Given the description of an element on the screen output the (x, y) to click on. 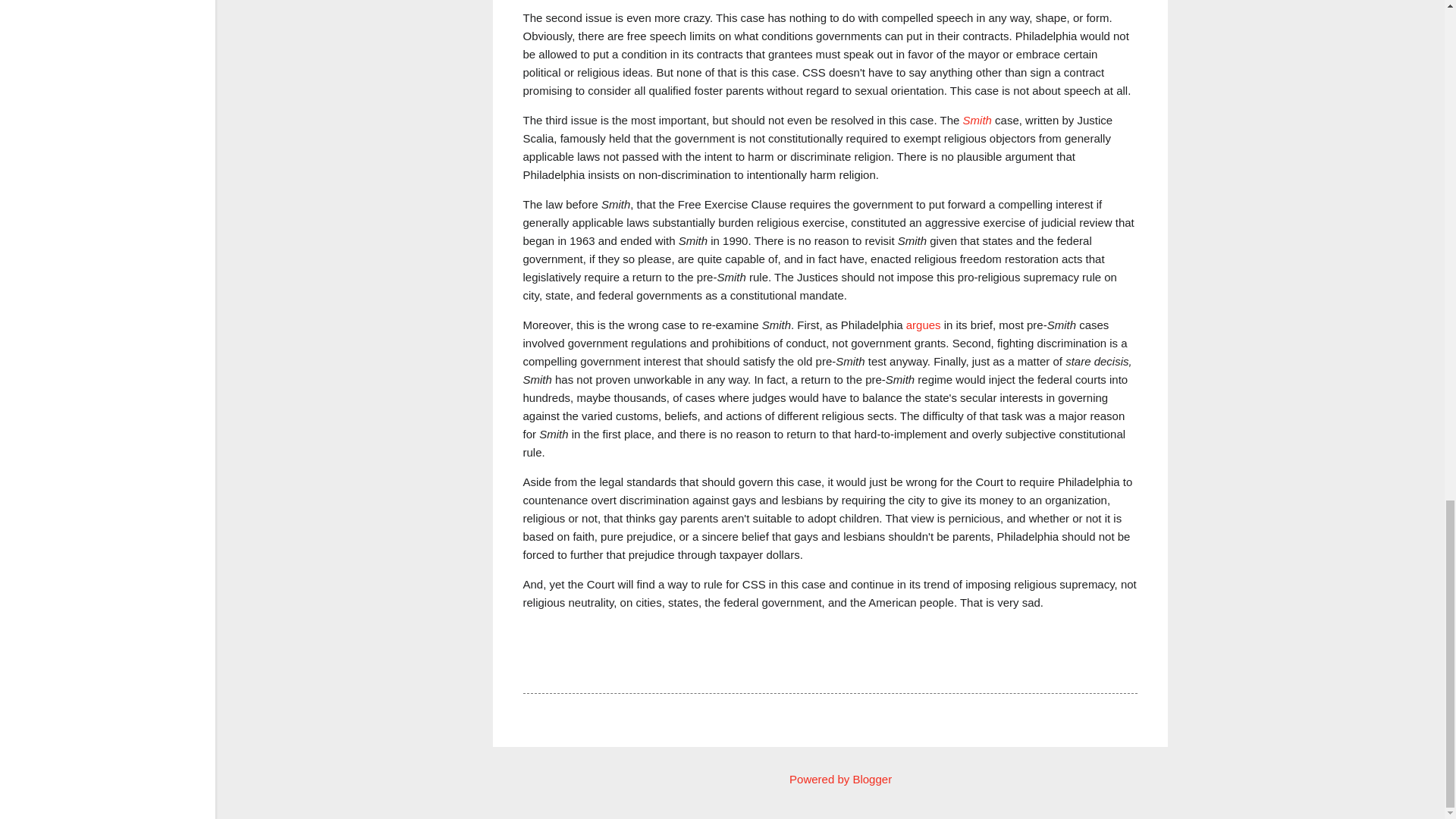
Powered by Blogger (829, 779)
Smith (976, 119)
argues (922, 323)
Email Post (562, 665)
